Given the description of an element on the screen output the (x, y) to click on. 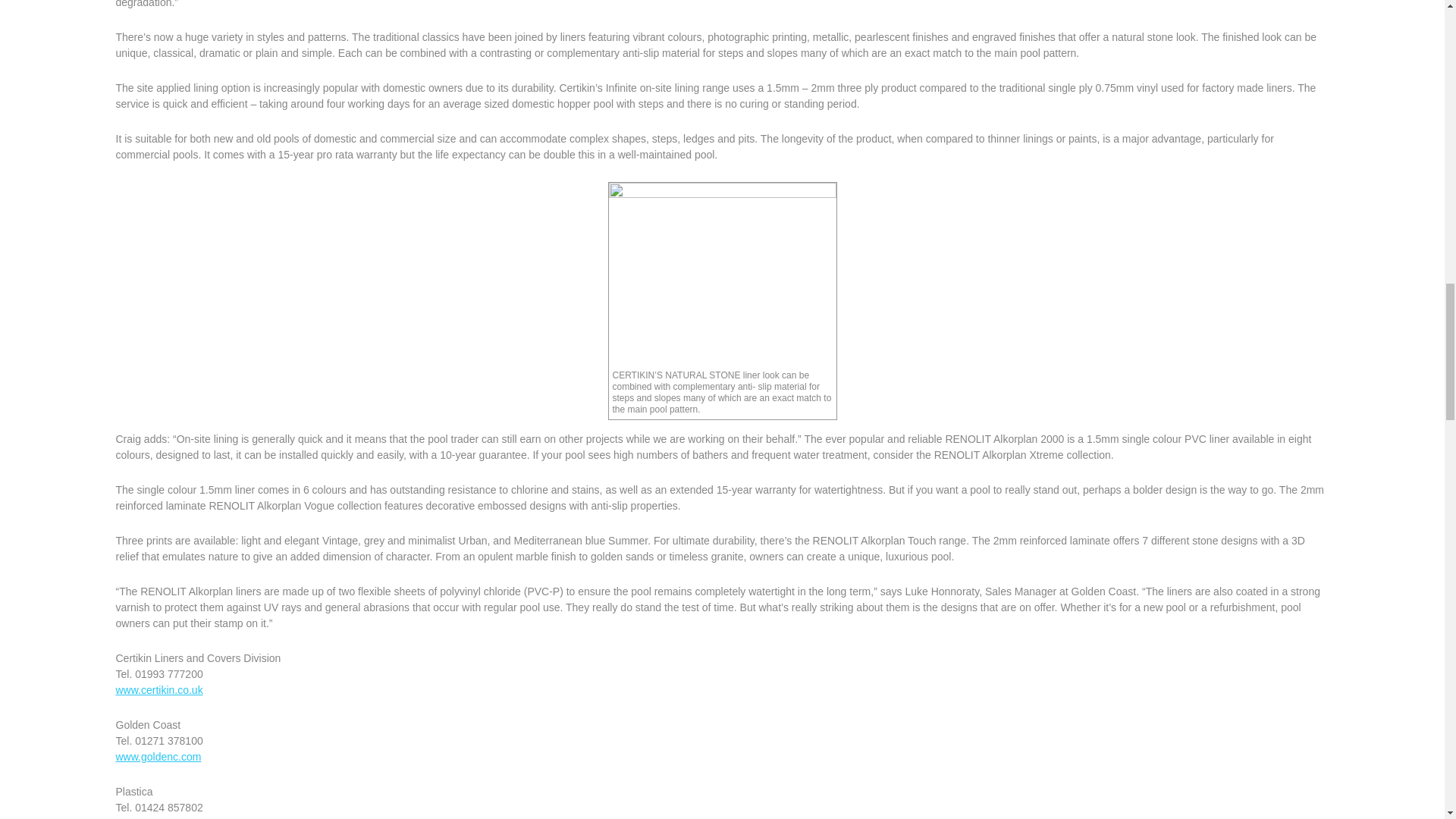
www.certikin.co.uk (158, 689)
www.goldenc.com (157, 756)
www.plasticapools.net (167, 818)
